Given the description of an element on the screen output the (x, y) to click on. 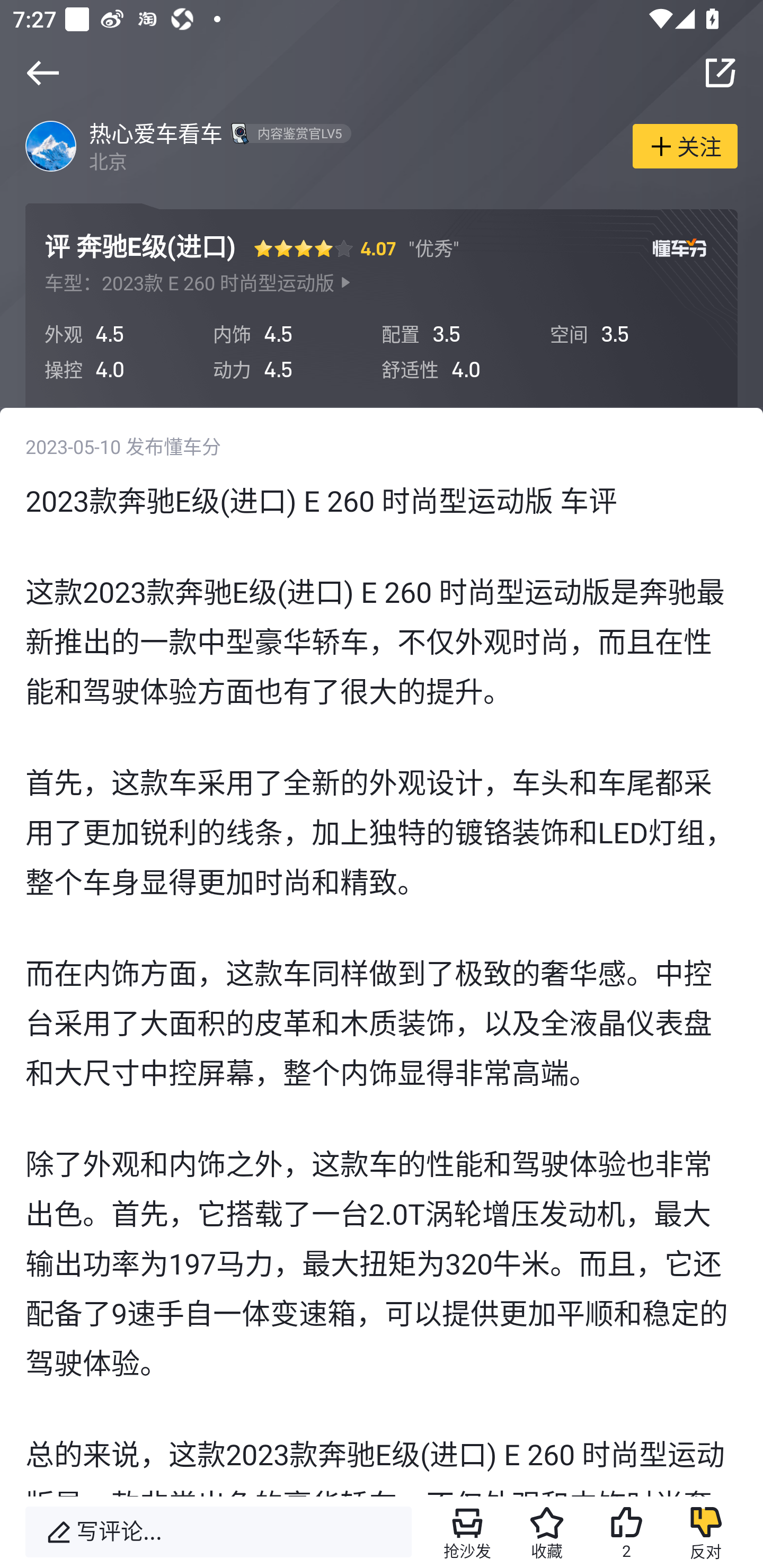
 (42, 72)
 (720, 72)
内容鉴赏官LV5 (287, 133)
 关注 (684, 145)
车型：2023款 E 260 时尚型运动版  (198, 282)
 抢沙发 (467, 1531)
收藏 (546, 1531)
2 (625, 1531)
反对 (705, 1531)
 写评论... (218, 1531)
